Given the description of an element on the screen output the (x, y) to click on. 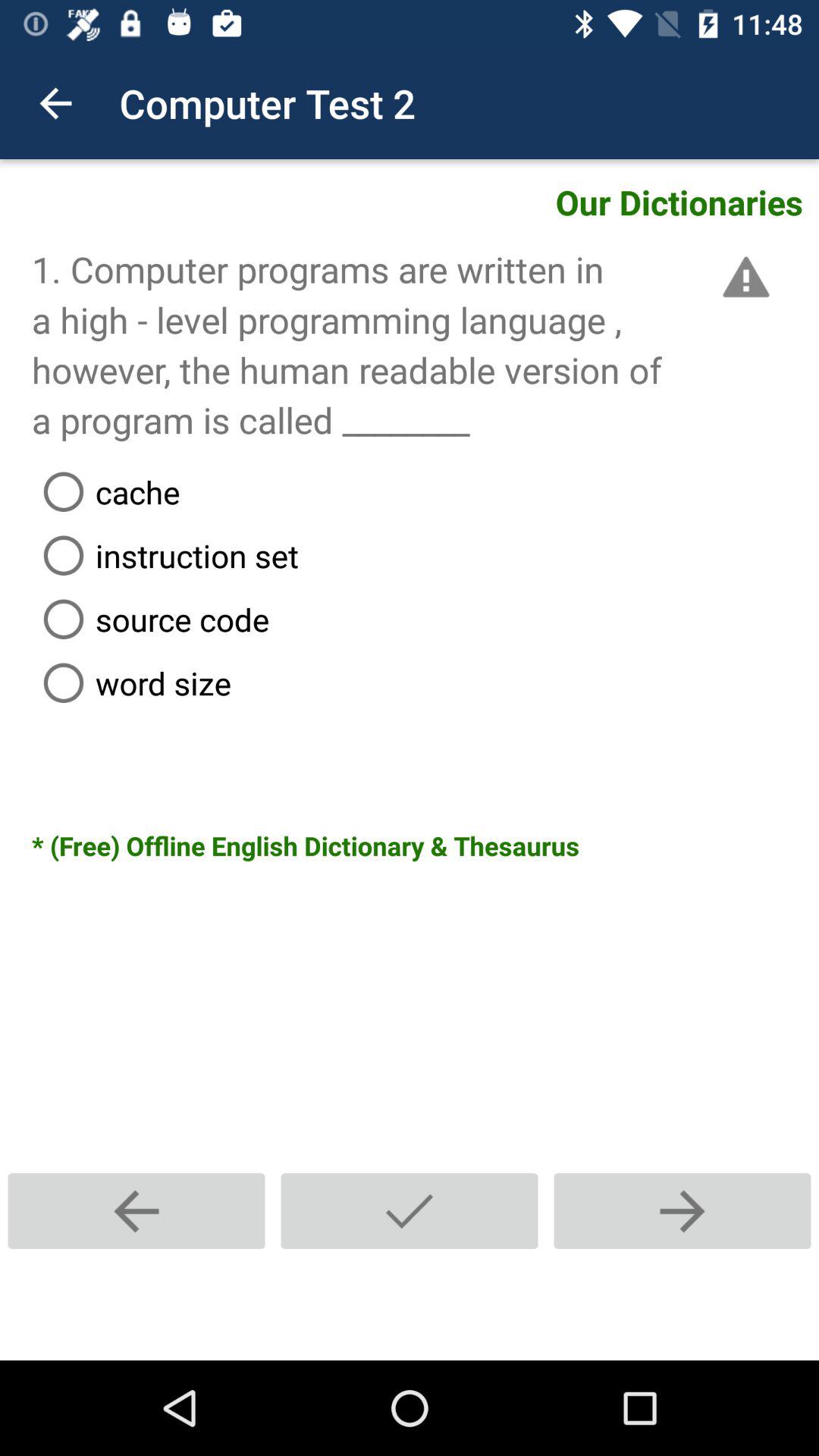
open the source code item (425, 619)
